Given the description of an element on the screen output the (x, y) to click on. 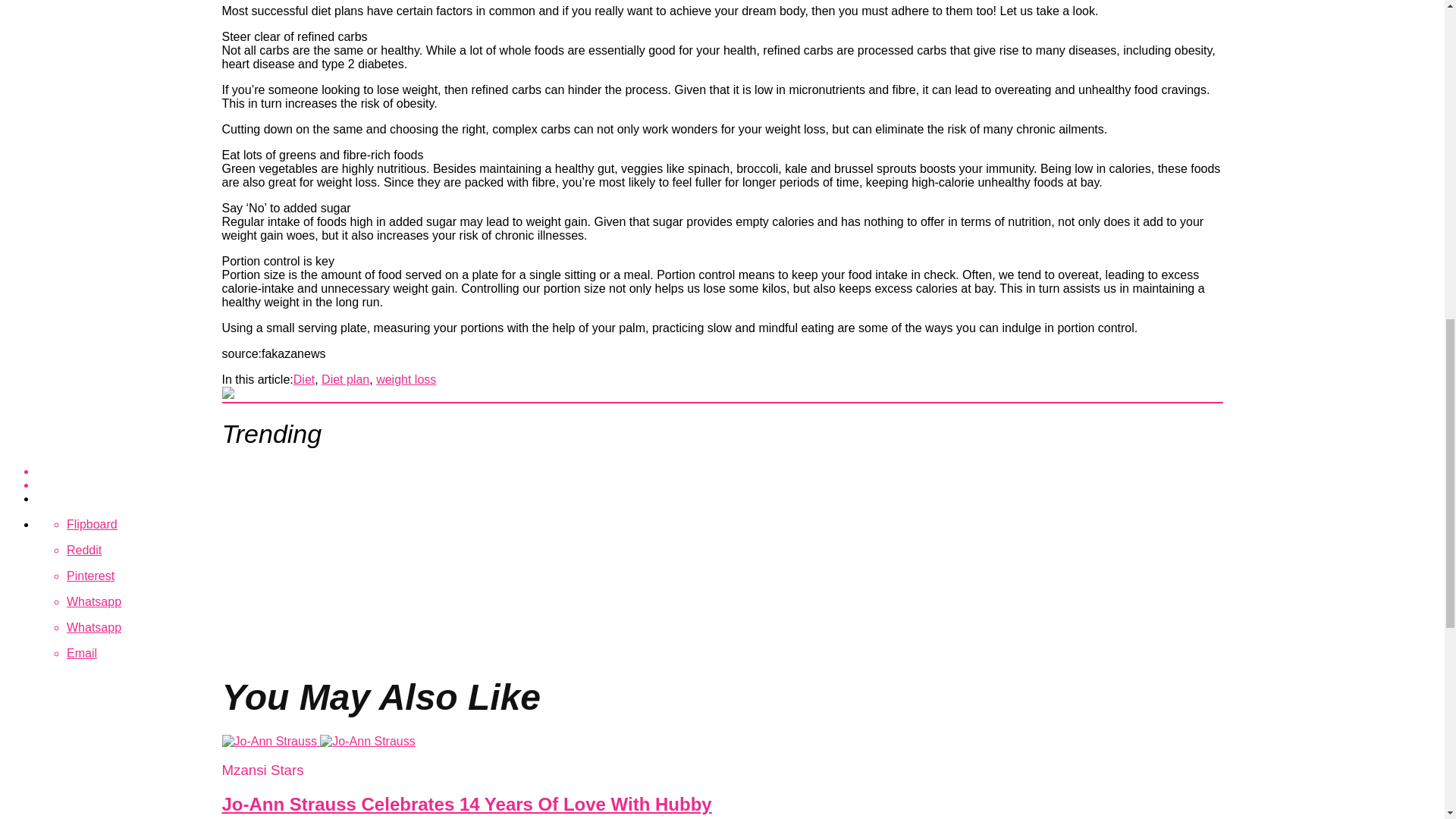
Diet (304, 379)
Diet plan (345, 379)
weight loss (405, 379)
